Given the description of an element on the screen output the (x, y) to click on. 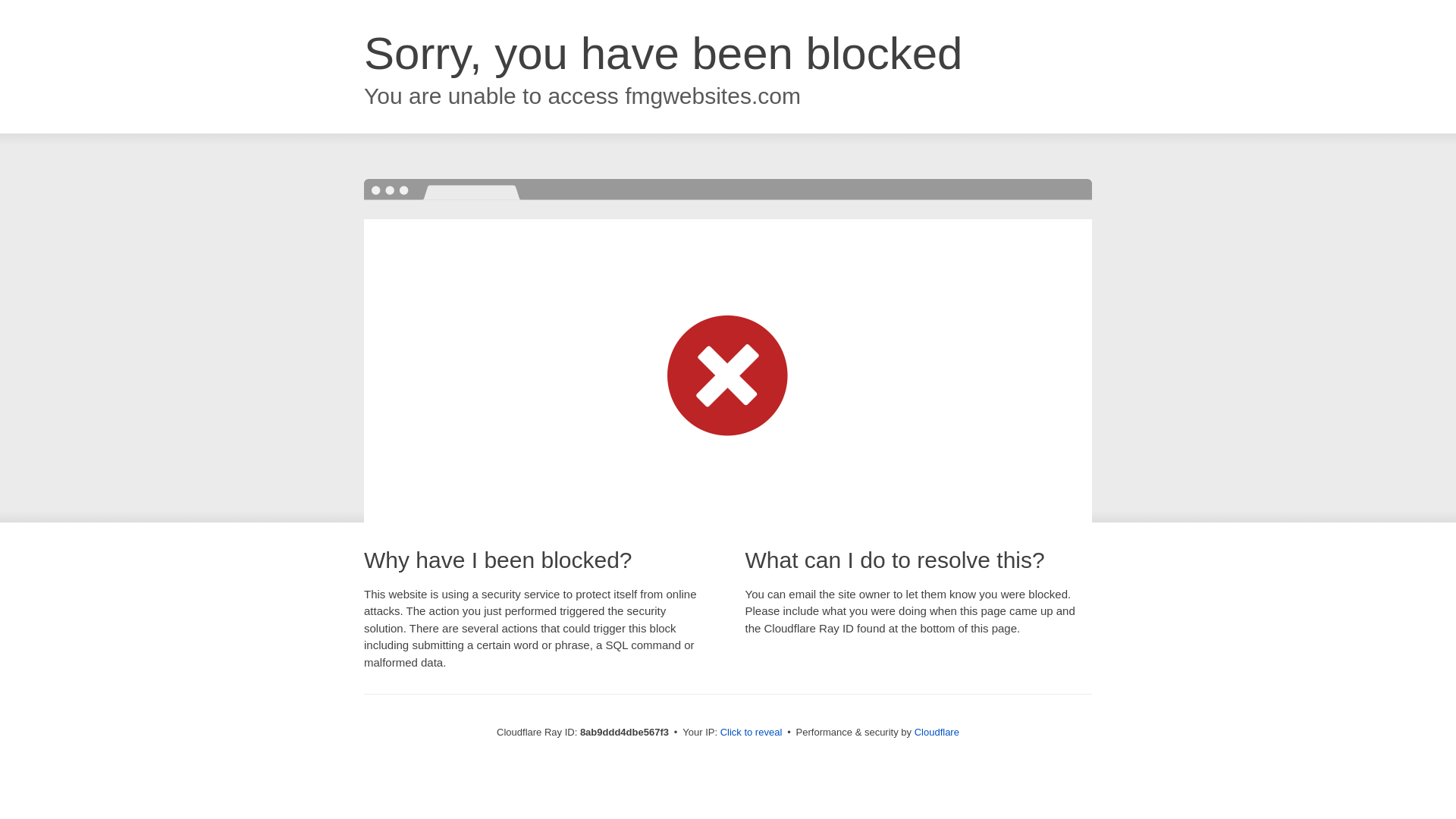
Click to reveal (751, 732)
Cloudflare (936, 731)
